Given the description of an element on the screen output the (x, y) to click on. 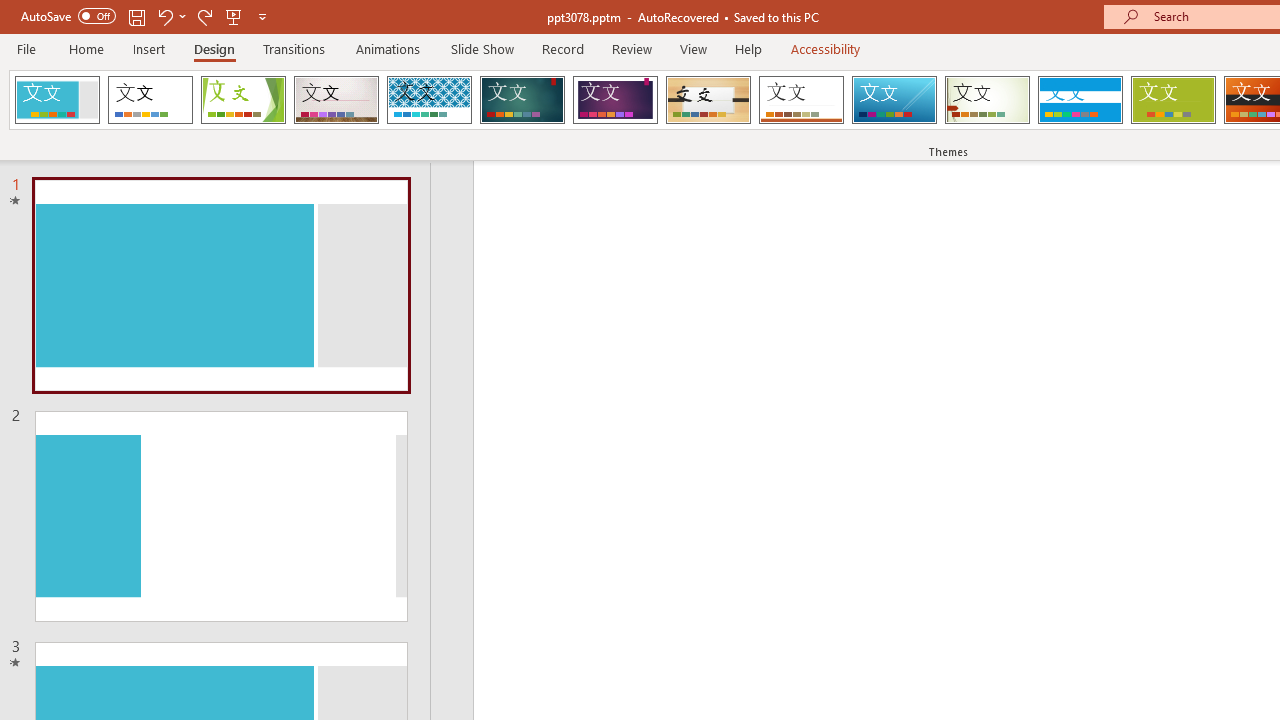
Basis (1172, 100)
Ion (522, 100)
Slice (893, 100)
Ion Boardroom (615, 100)
